Given the description of an element on the screen output the (x, y) to click on. 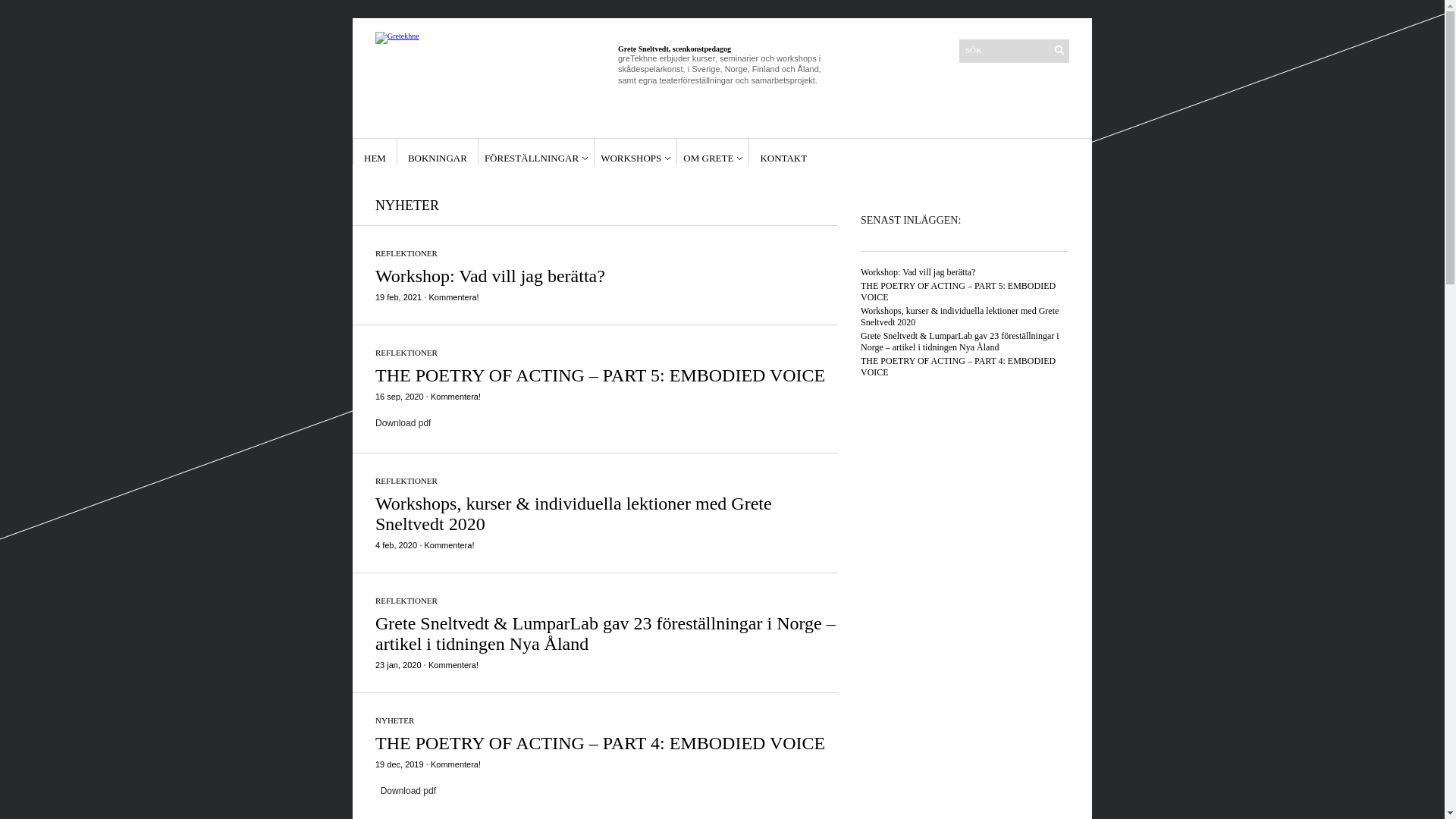
WORKSHOPS Element type: text (635, 151)
Kommentera! Element type: text (448, 544)
REFLEKTIONER Element type: text (406, 600)
REFLEKTIONER Element type: text (406, 480)
Kommentera! Element type: text (455, 396)
REFLEKTIONER Element type: text (406, 352)
HEM Element type: text (374, 151)
NYHETER Element type: text (394, 719)
REFLEKTIONER Element type: text (406, 252)
OM GRETE Element type: text (712, 151)
Kommentera! Element type: text (453, 664)
Kommentera! Element type: text (454, 296)
Kommentera! Element type: text (455, 763)
KONTAKT Element type: text (782, 151)
BOKNINGAR Element type: text (437, 151)
